Given the description of an element on the screen output the (x, y) to click on. 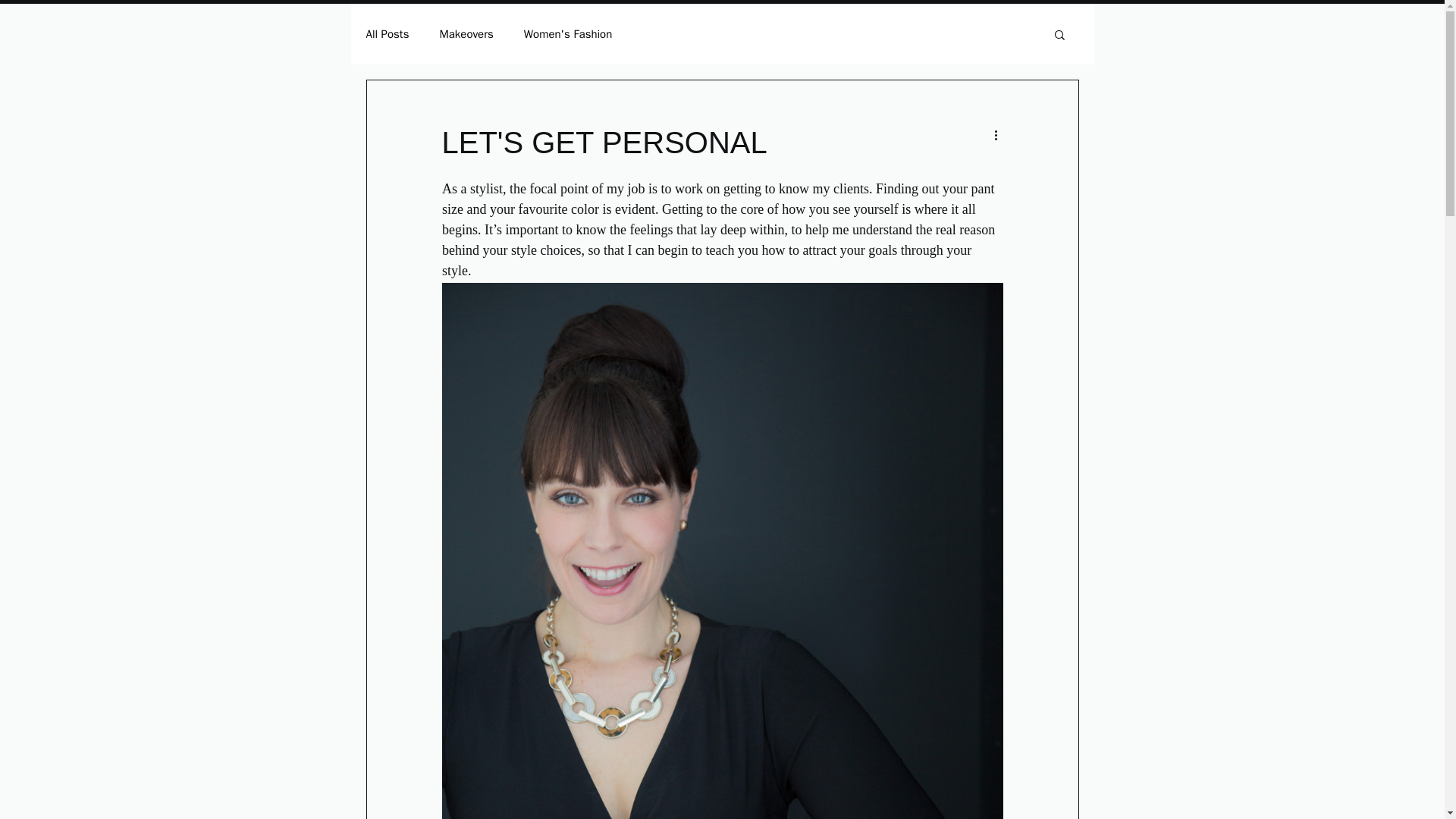
All Posts (387, 34)
Women's Fashion (568, 34)
Makeovers (466, 34)
